Given the description of an element on the screen output the (x, y) to click on. 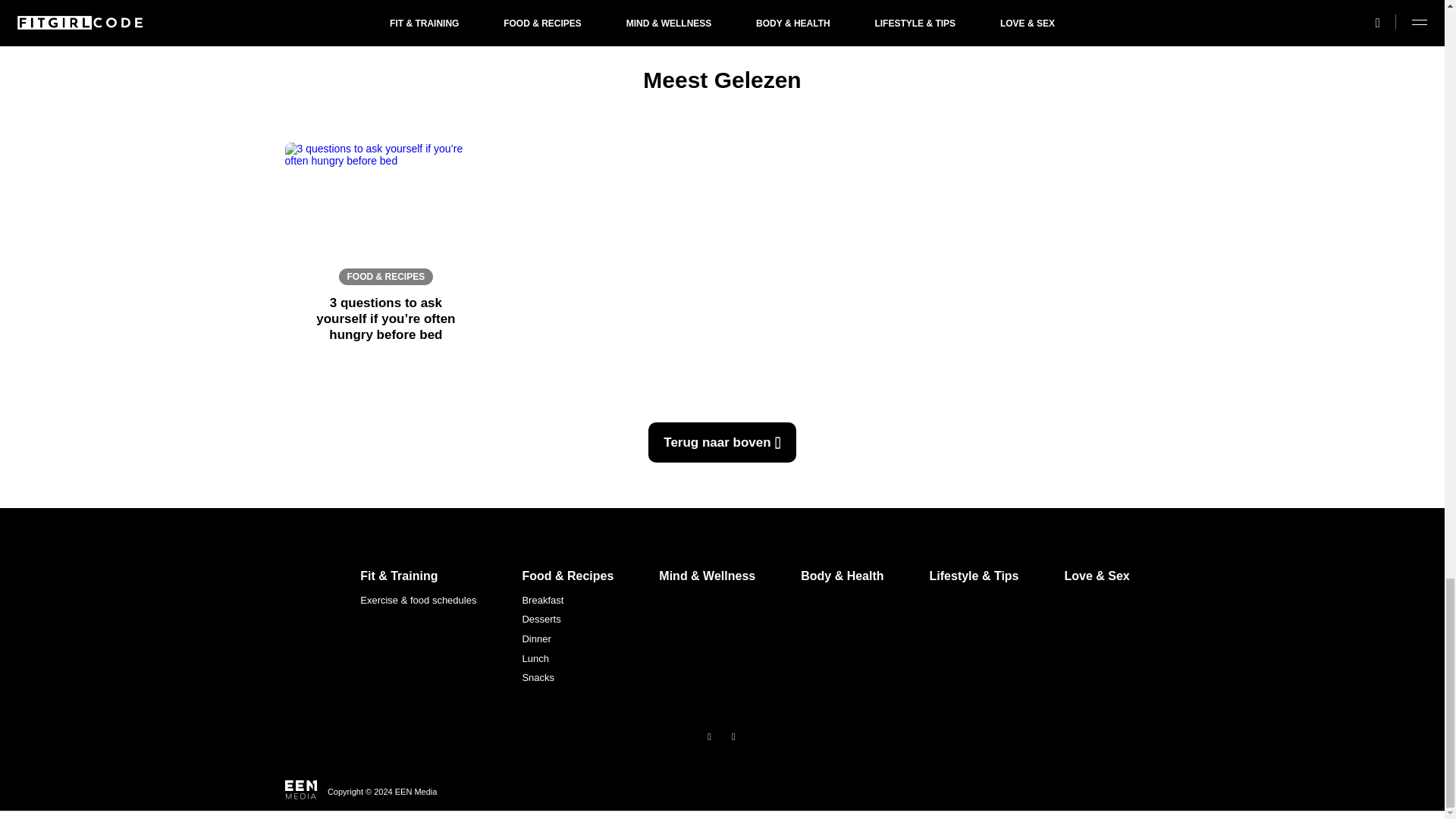
Breakfast (566, 600)
Lunch (566, 659)
Dinner (566, 639)
Snacks (566, 677)
Desserts (566, 619)
Terug naar boven (720, 442)
